Given the description of an element on the screen output the (x, y) to click on. 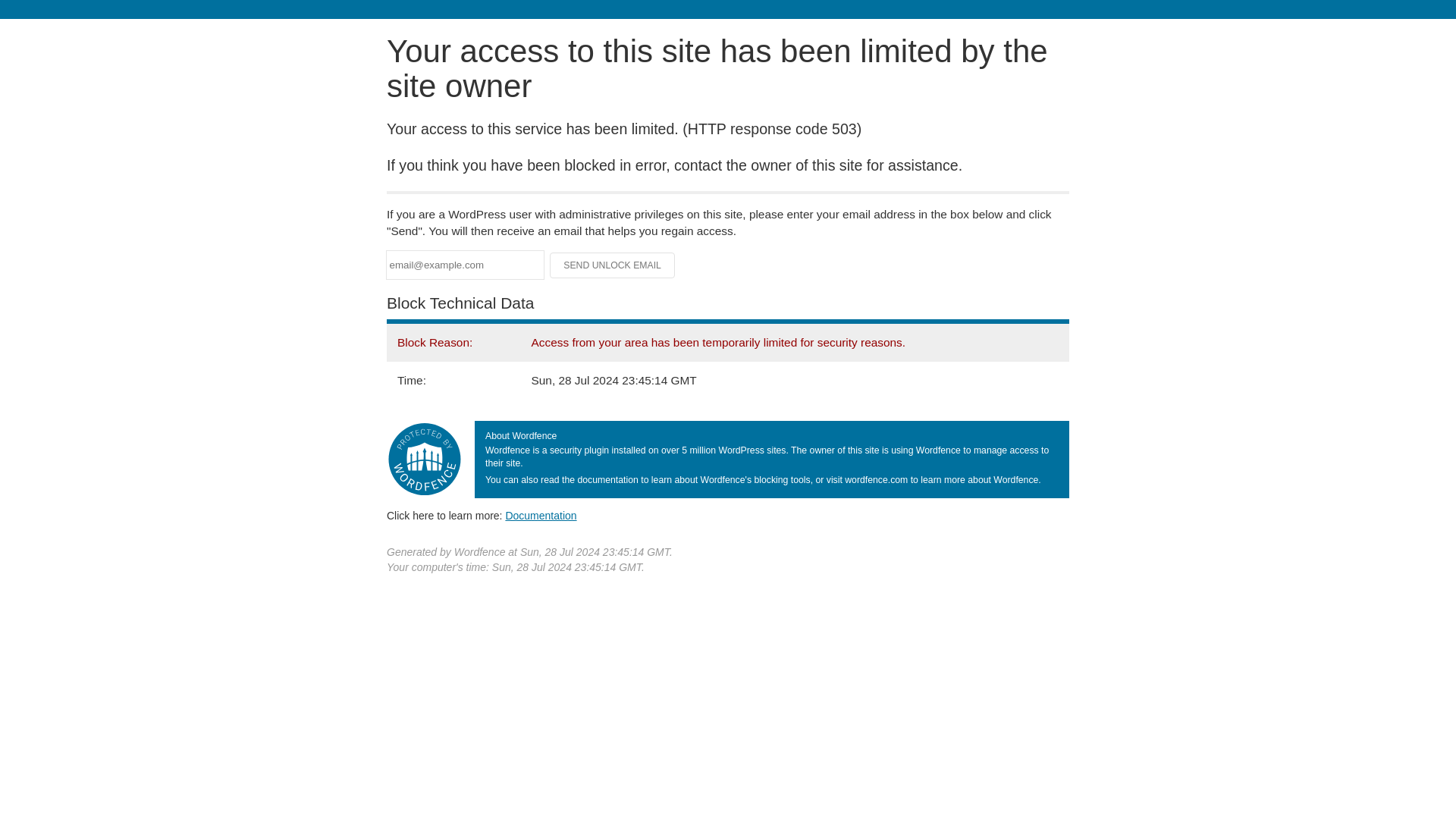
Documentation (540, 515)
Send Unlock Email (612, 265)
Send Unlock Email (612, 265)
